Given the description of an element on the screen output the (x, y) to click on. 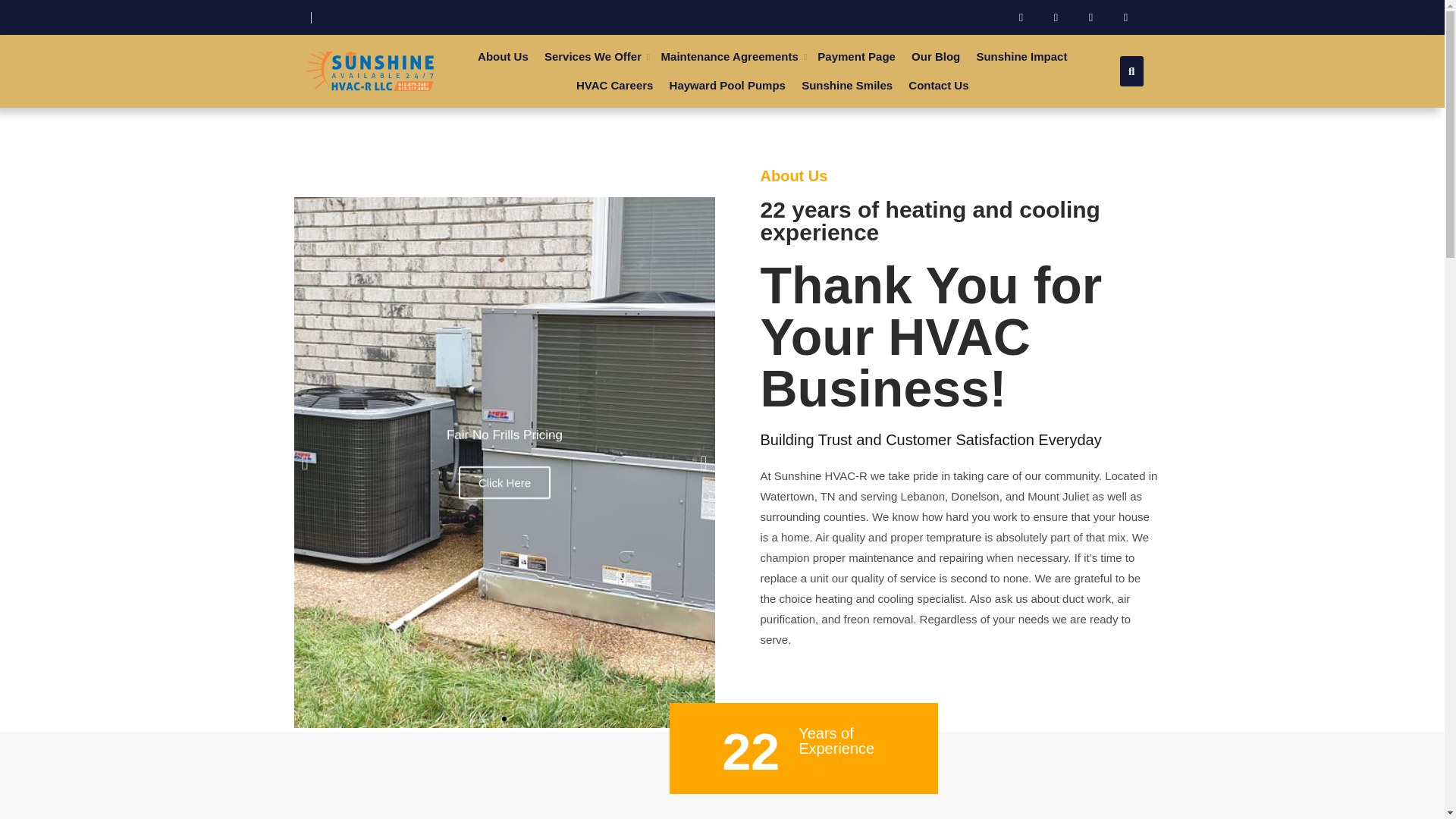
Services We Offer (592, 56)
Sunshine HVAC-R Inc. (414, 103)
Our Blog (935, 56)
Sunshine Residential HVAC Service Agreement (738, 93)
Contact Us (938, 85)
Hayward Pool Pumps (726, 85)
HVAC Careers (614, 85)
HVAC Careers (614, 85)
Payment Page (856, 56)
Services We Offer (592, 56)
Maintenance Agreements (729, 56)
Sunshine Impact (1021, 56)
Sunshine HVAC-R Inc. (414, 103)
Guardian UV Filtration Systems (620, 93)
Sunshine Smiles (847, 85)
